Given the description of an element on the screen output the (x, y) to click on. 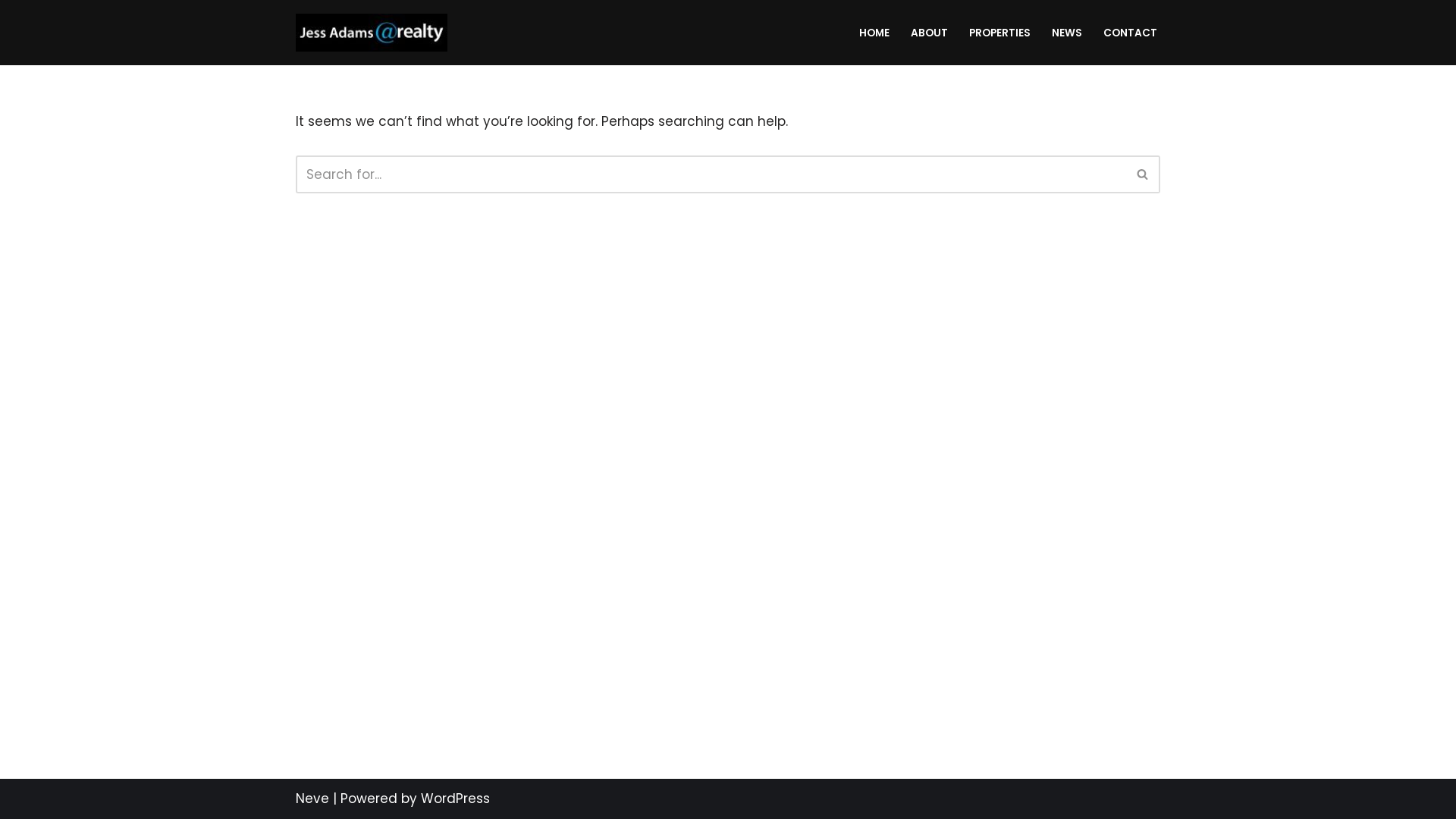
WordPress Element type: text (454, 798)
PROPERTIES Element type: text (999, 31)
ABOUT Element type: text (928, 31)
Skip to content Element type: text (11, 31)
HOME Element type: text (874, 31)
NEWS Element type: text (1066, 31)
Neve Element type: text (312, 798)
CONTACT Element type: text (1130, 31)
